Given the description of an element on the screen output the (x, y) to click on. 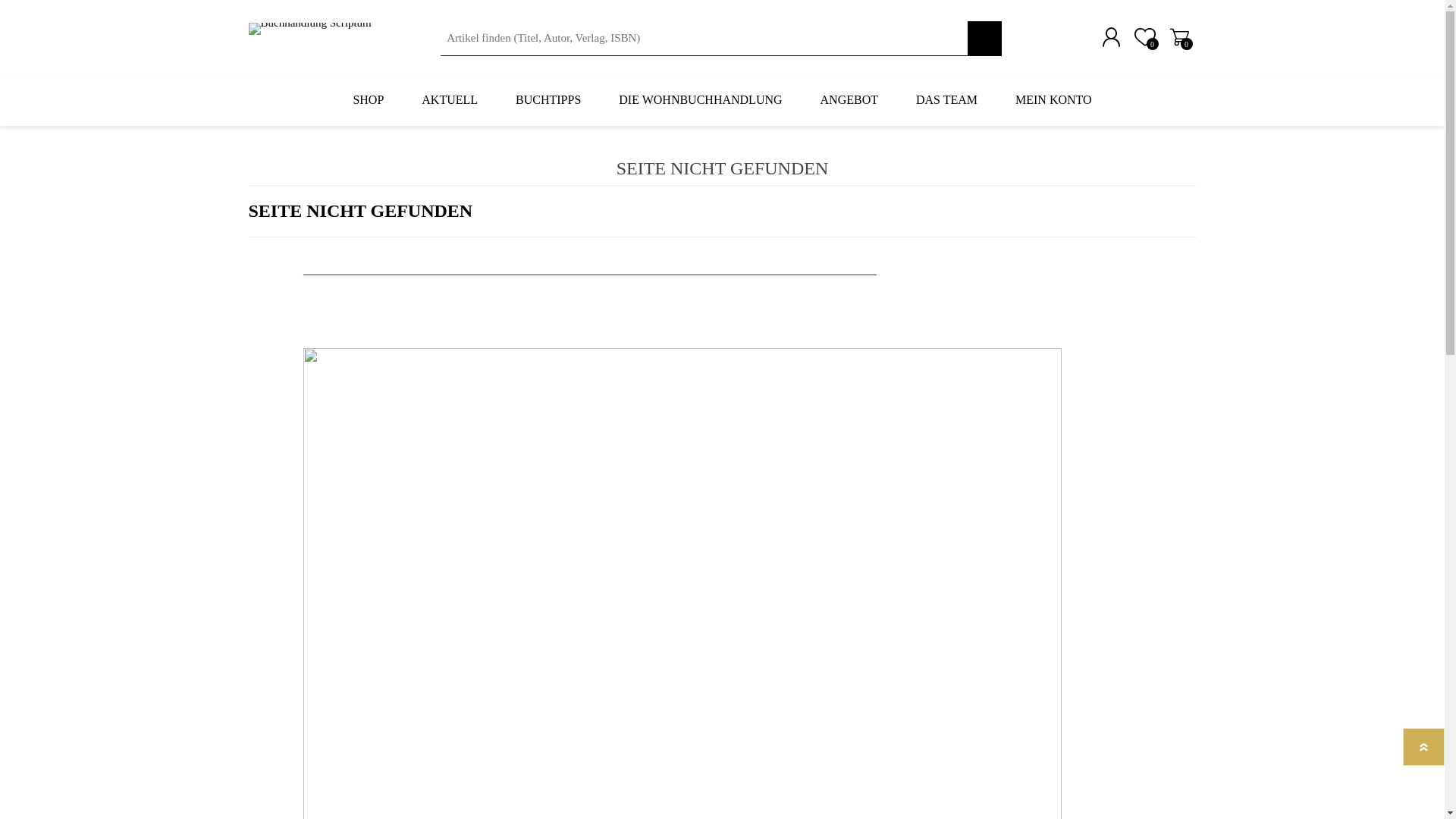
Wunschliste
0 Element type: text (1145, 36)
Warenkorb Element type: text (1178, 36)
MEIN KONTO Element type: text (1053, 99)
ANGEBOT Element type: text (849, 99)
BUCHTIPPS Element type: text (547, 99)
DIE WOHNBUCHHANDLUNG Element type: text (699, 99)
SHOP Element type: text (367, 99)
AKTUELL Element type: text (449, 99)
Suchen Element type: text (984, 38)
DAS TEAM Element type: text (946, 99)
